Given the description of an element on the screen output the (x, y) to click on. 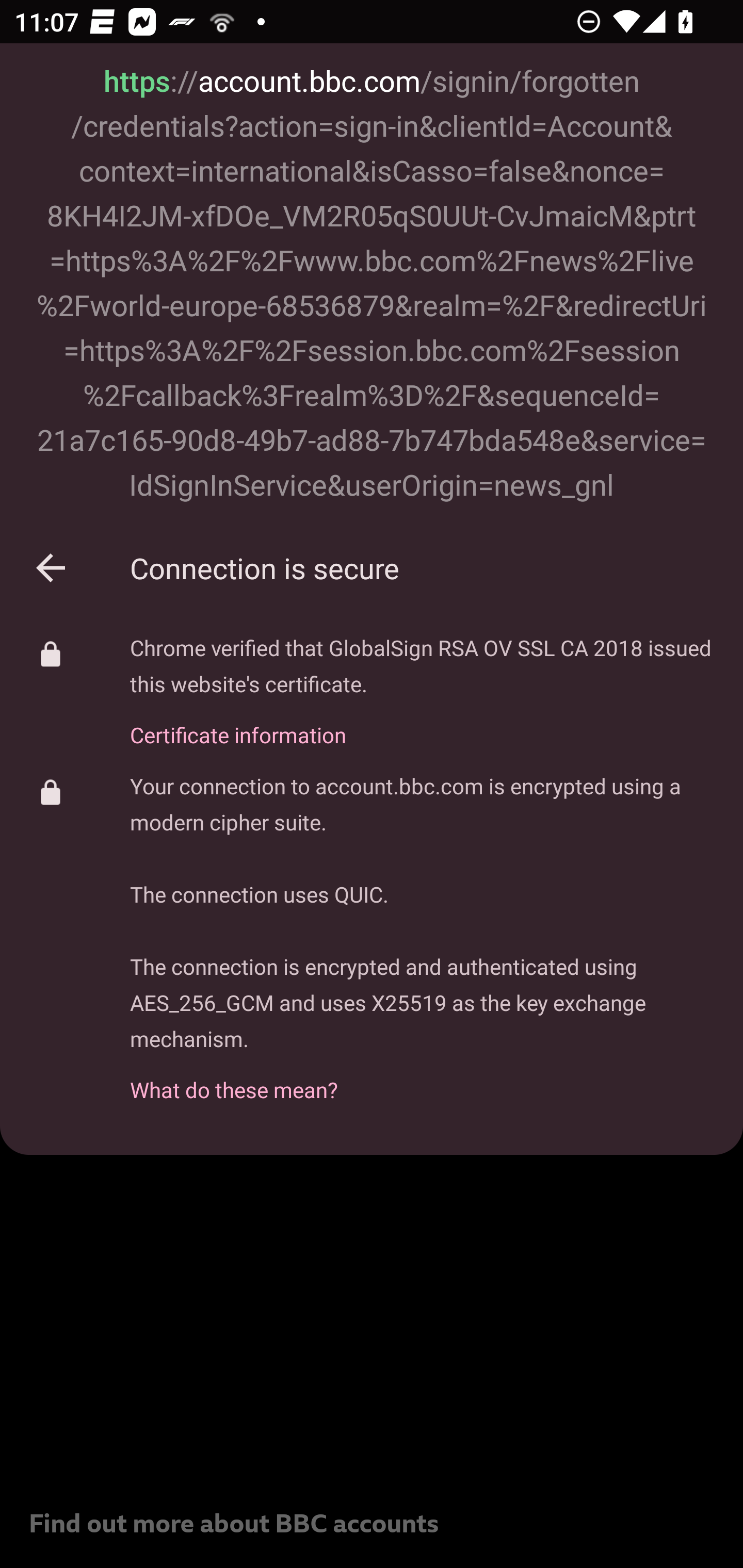
Back (50, 568)
Certificate information (422, 723)
What do these mean? (422, 1078)
